Given the description of an element on the screen output the (x, y) to click on. 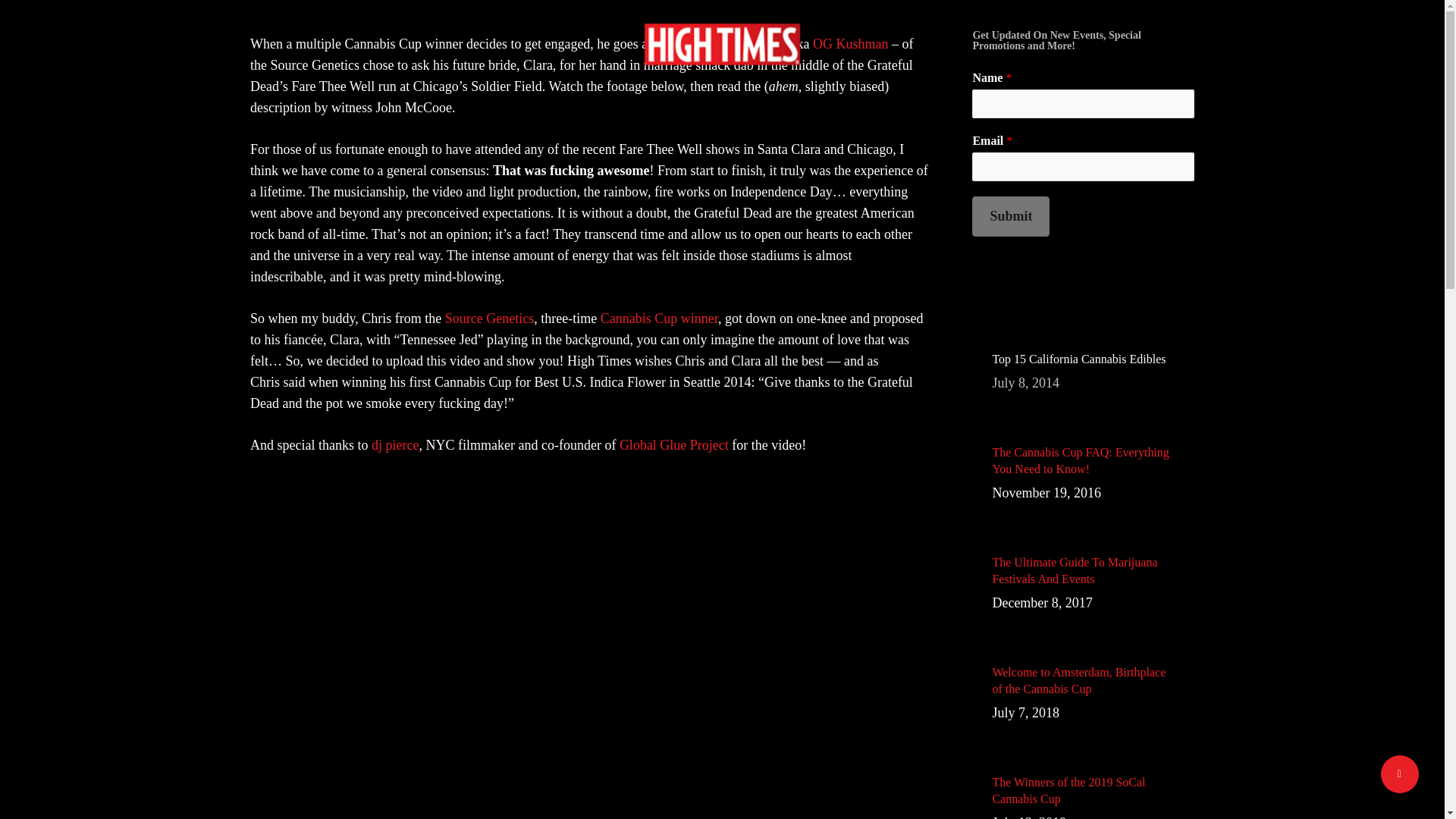
OG Kushman (850, 43)
Source Genetics (1082, 372)
Cannabis Cup winner (489, 318)
Submit (658, 318)
dj pierce (1010, 216)
Global Glue Project (395, 444)
